Given the description of an element on the screen output the (x, y) to click on. 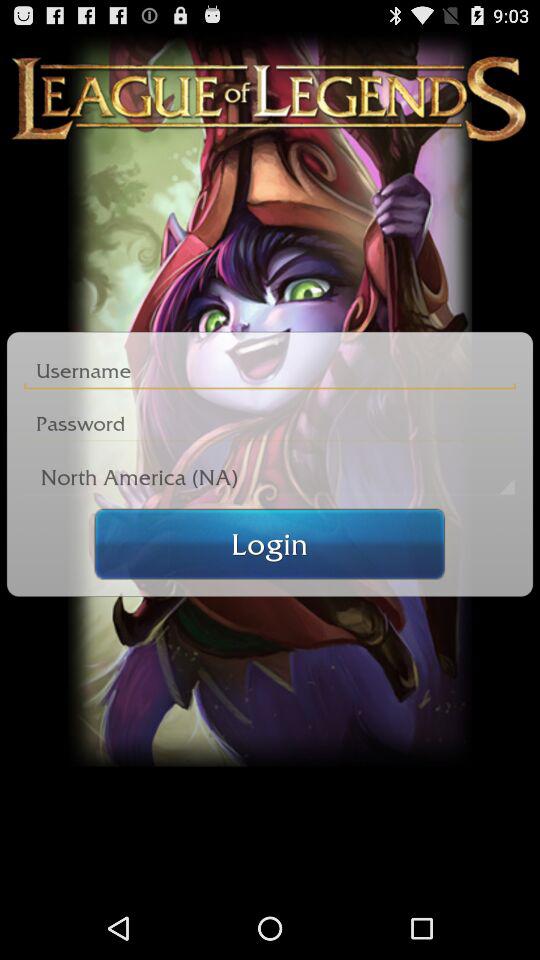
tap the app below north america (na) icon (269, 543)
